Given the description of an element on the screen output the (x, y) to click on. 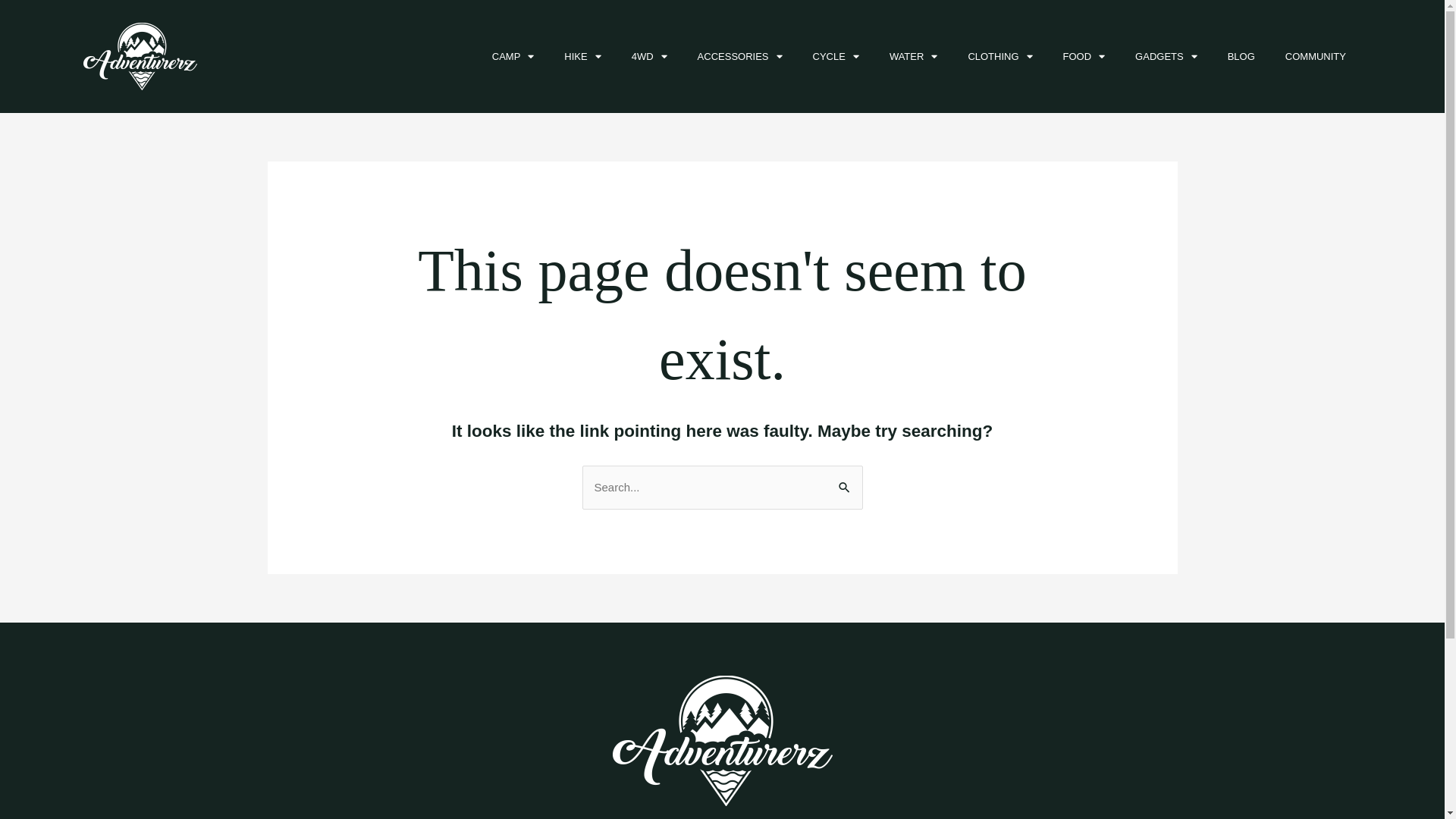
logo Element type: hover (722, 740)
logo Element type: hover (140, 56)
FOOD Element type: text (1084, 56)
BLOG Element type: text (1241, 56)
4WD Element type: text (649, 56)
COMMUNITY Element type: text (1315, 56)
WATER Element type: text (913, 56)
CYCLE Element type: text (835, 56)
HIKE Element type: text (582, 56)
Search Element type: text (845, 480)
CLOTHING Element type: text (999, 56)
CAMP Element type: text (512, 56)
GADGETS Element type: text (1166, 56)
ACCESSORIES Element type: text (739, 56)
